Given the description of an element on the screen output the (x, y) to click on. 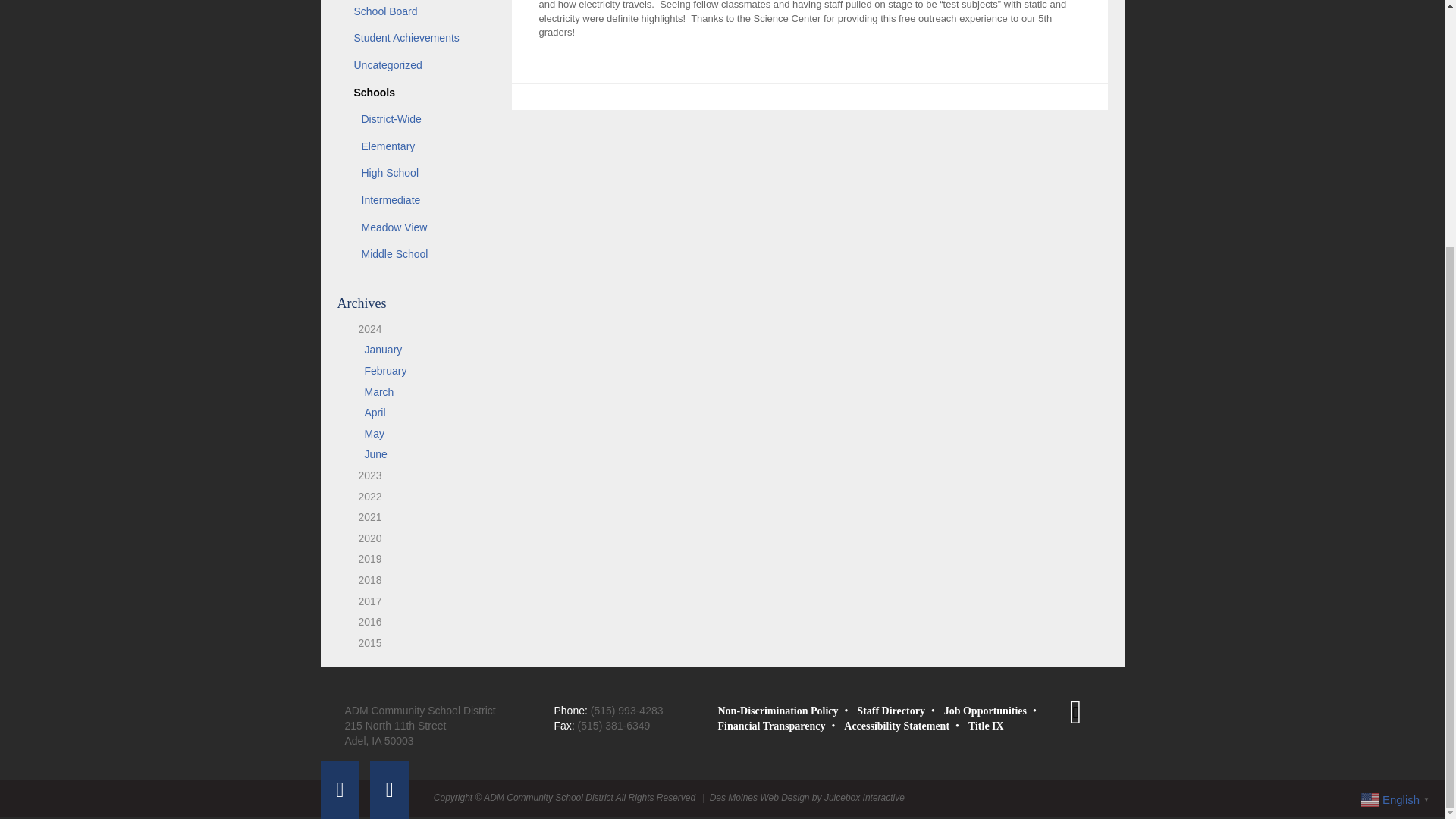
Archives for 2022 (363, 496)
Archives for 2023 (363, 475)
Archives for 2017 (363, 601)
Student Achievements (415, 38)
Middle School (415, 254)
Archives for 2024 (363, 328)
Archives for 2016 (363, 621)
Archives for 2021 (363, 517)
School Board (415, 12)
2024 (363, 328)
March (378, 391)
Archives for 2019 (363, 558)
February (385, 370)
Archives for 2018 (363, 580)
Elementary (415, 146)
